Given the description of an element on the screen output the (x, y) to click on. 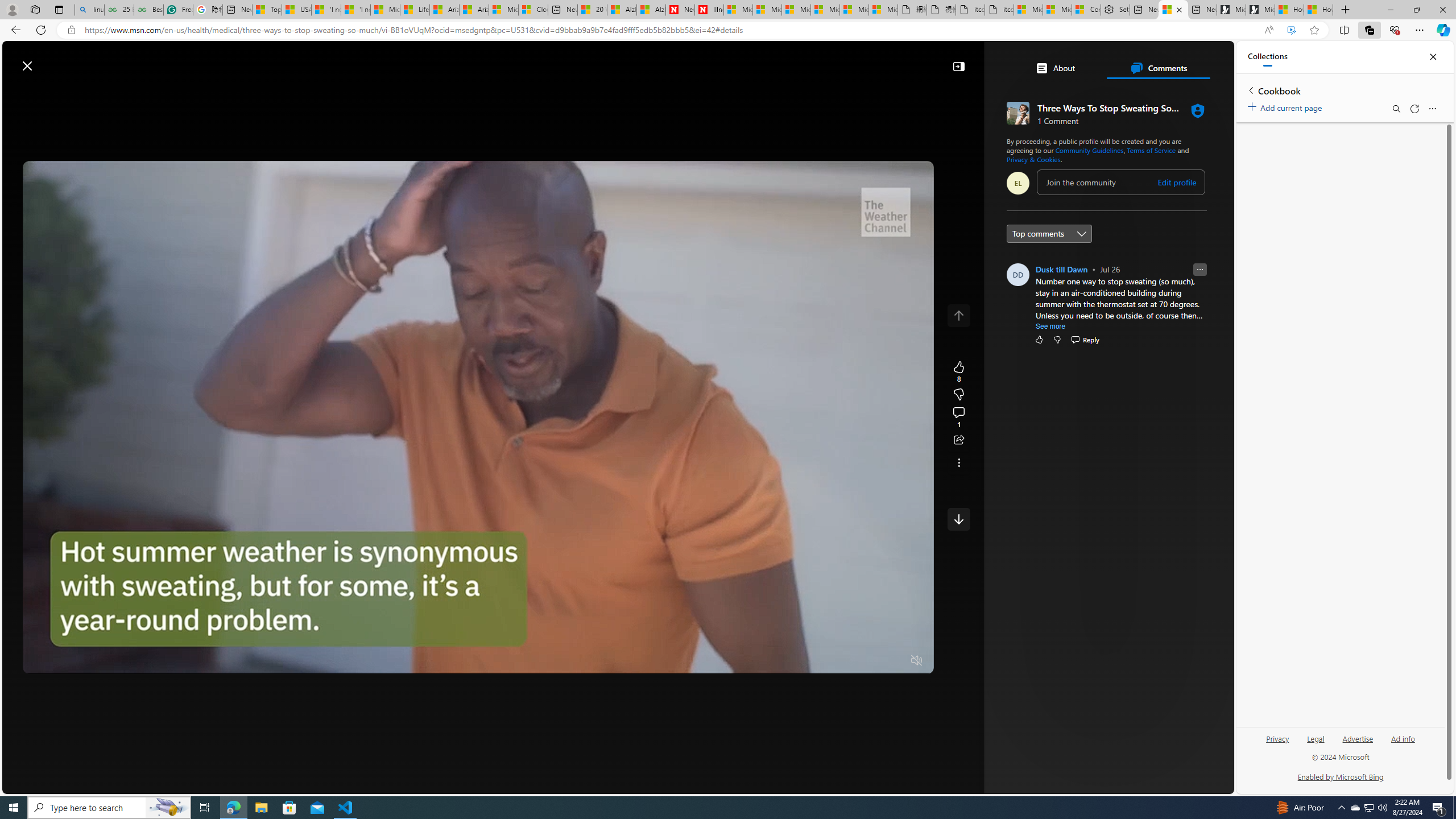
Captions (871, 660)
Feedback (1190, 784)
Dusk till Dawn (1061, 269)
Progress Bar (478, 646)
Free AI Writing Assistance for Students | Grammarly (178, 9)
Fullscreen (895, 660)
Microsoft account | Privacy (1056, 9)
Discover (217, 92)
The Wall Street Journal (1060, 366)
